Given the description of an element on the screen output the (x, y) to click on. 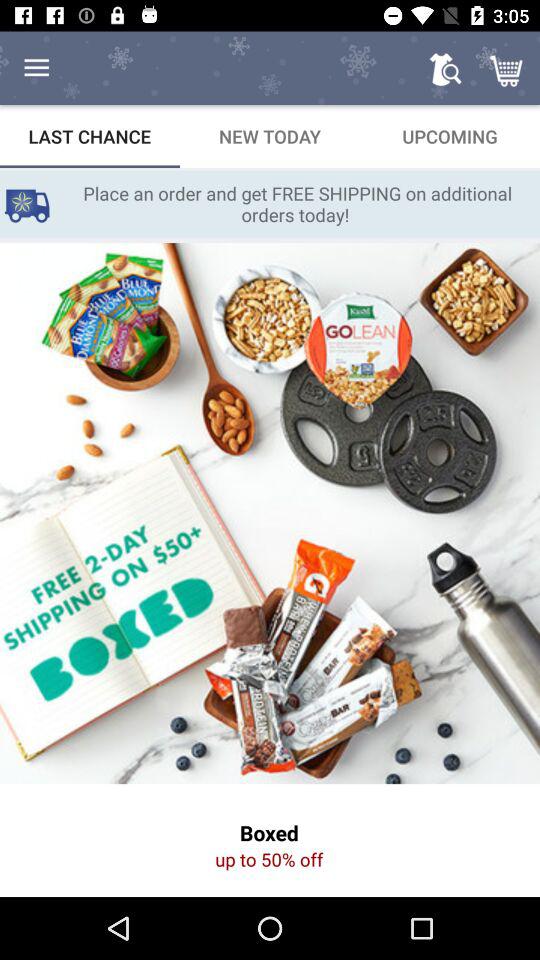
select the delivery icon below the last chance icon (26, 203)
